Given the description of an element on the screen output the (x, y) to click on. 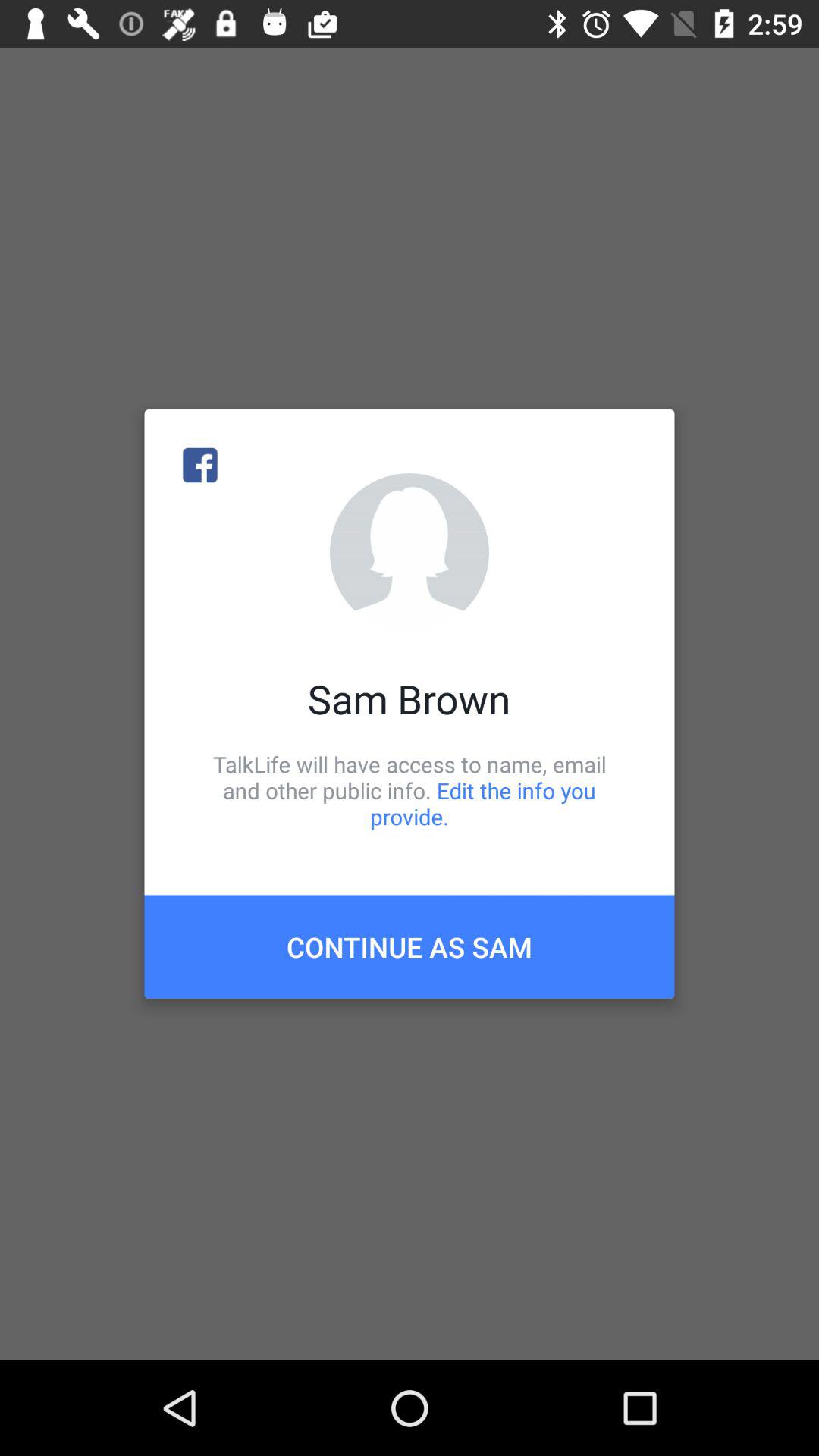
choose the item below the talklife will have icon (409, 946)
